Given the description of an element on the screen output the (x, y) to click on. 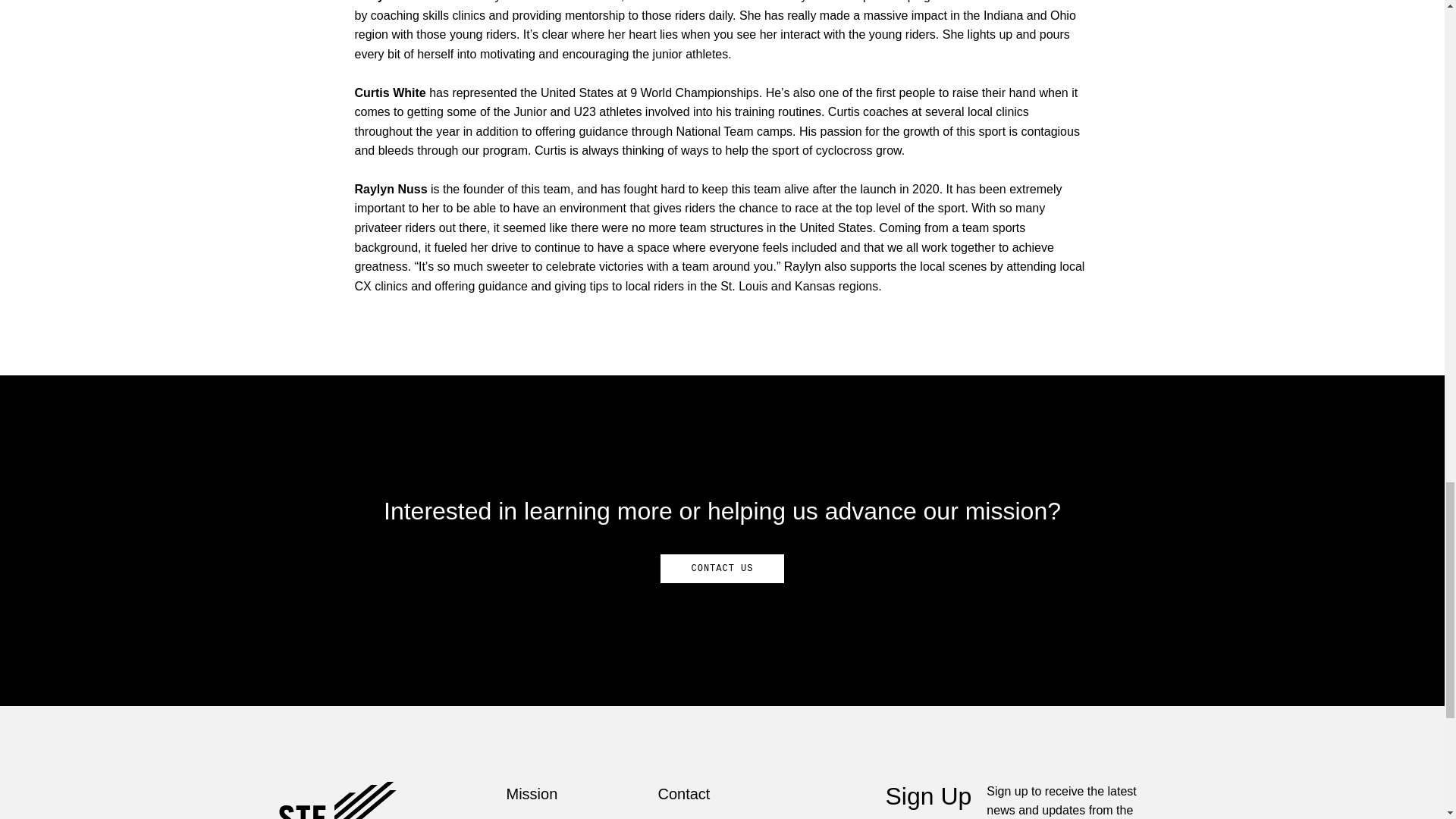
Mission (531, 793)
CONTACT US (721, 568)
